Given the description of an element on the screen output the (x, y) to click on. 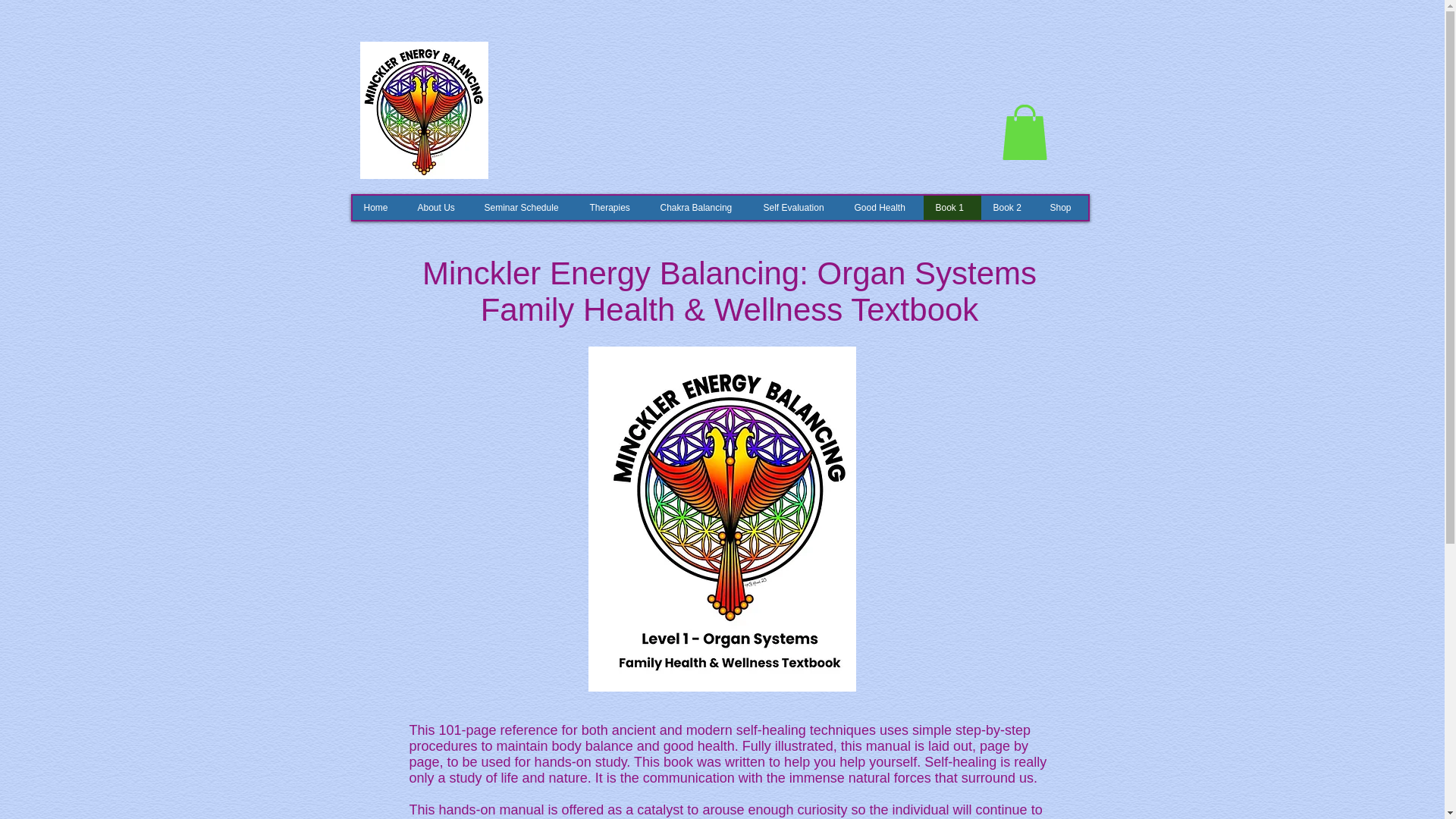
Seminar Schedule (523, 207)
About Us (437, 207)
Chakra Balancing (699, 207)
Home (378, 207)
Self Evaluation (796, 207)
Good Health (882, 207)
Therapies (612, 207)
